Given the description of an element on the screen output the (x, y) to click on. 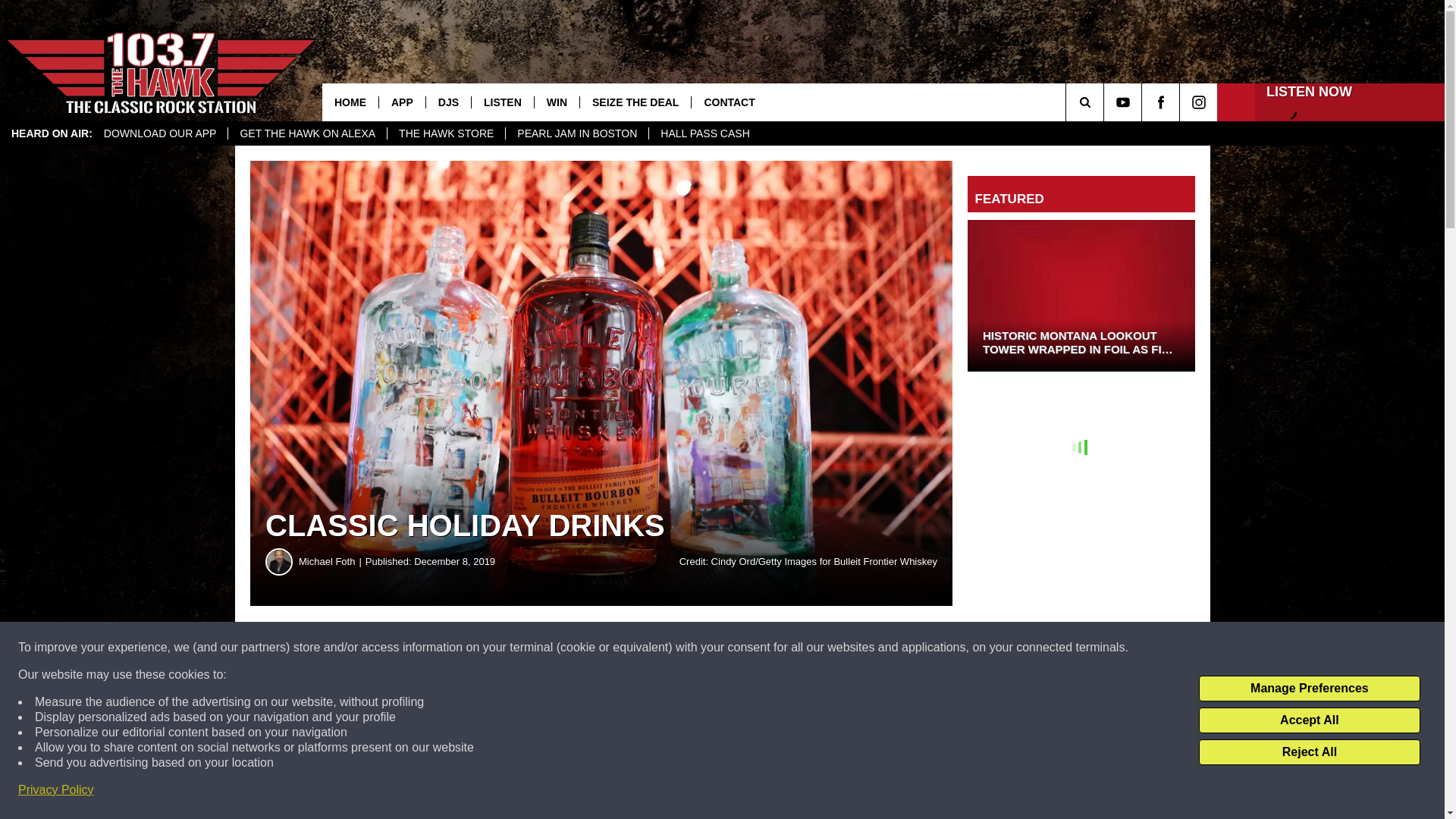
Privacy Policy (55, 789)
DJS (447, 102)
Manage Preferences (1309, 688)
APP (401, 102)
WIN (556, 102)
THE HAWK STORE (446, 133)
GET THE HAWK ON ALEXA (307, 133)
Share on Facebook (460, 647)
SEARCH (1106, 102)
HALL PASS CASH (704, 133)
